Given the description of an element on the screen output the (x, y) to click on. 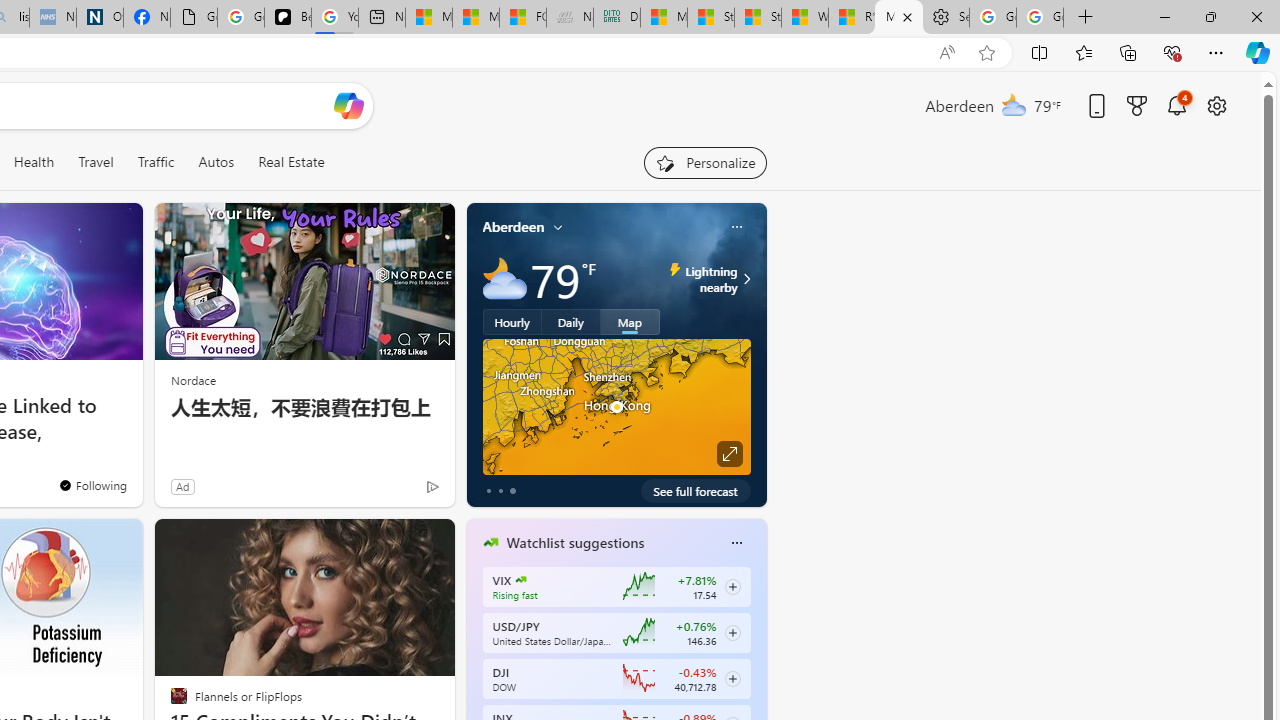
Real Estate (290, 162)
next (756, 670)
previous (476, 670)
tab-0 (488, 490)
tab-2 (511, 490)
Health (34, 161)
